Given the description of an element on the screen output the (x, y) to click on. 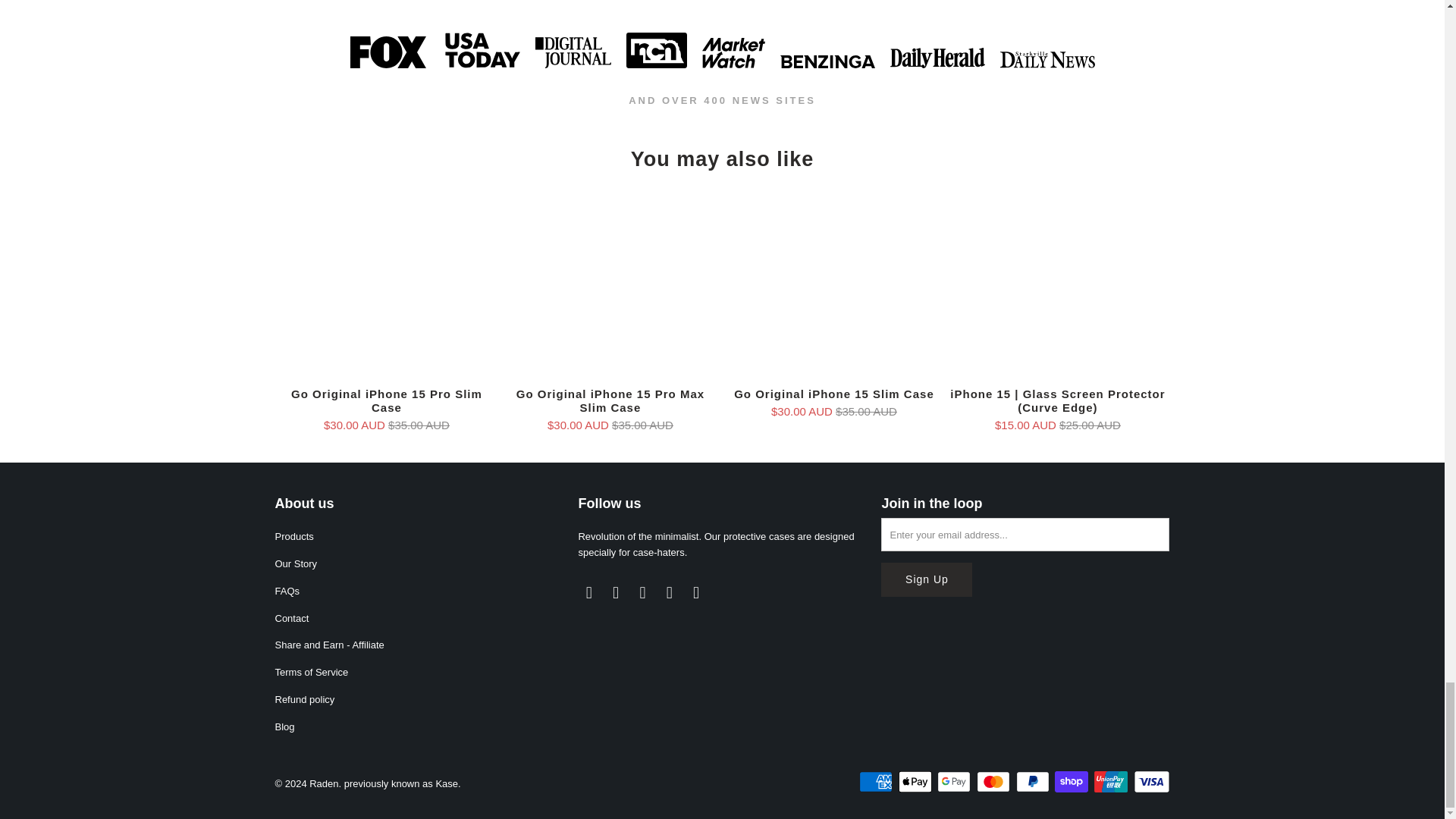
PayPal (1034, 781)
Union Pay (1112, 781)
Google Pay (955, 781)
Mastercard (994, 781)
Raden on Pinterest (669, 592)
American Express (877, 781)
Raden on Twitter (696, 592)
Email Raden (588, 592)
Sign Up (926, 579)
Shop Pay (1072, 781)
